Given the description of an element on the screen output the (x, y) to click on. 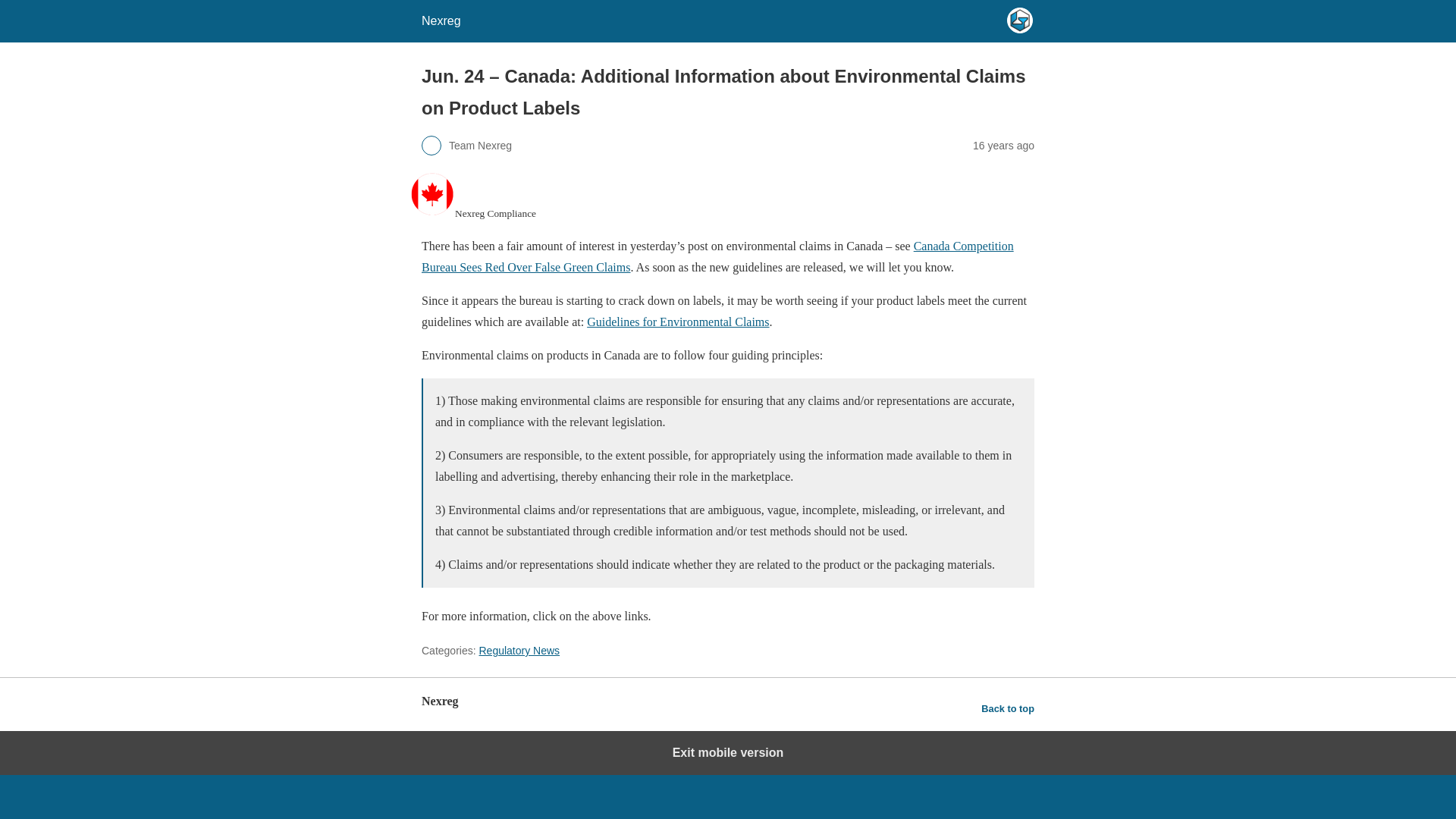
Regulatory News (519, 650)
Canada Competition Bureau Sees Red Over False Green Claims (717, 256)
Back to top (1007, 709)
Guidelines for Environmental Claims (677, 321)
Nexreg (441, 20)
